Given the description of an element on the screen output the (x, y) to click on. 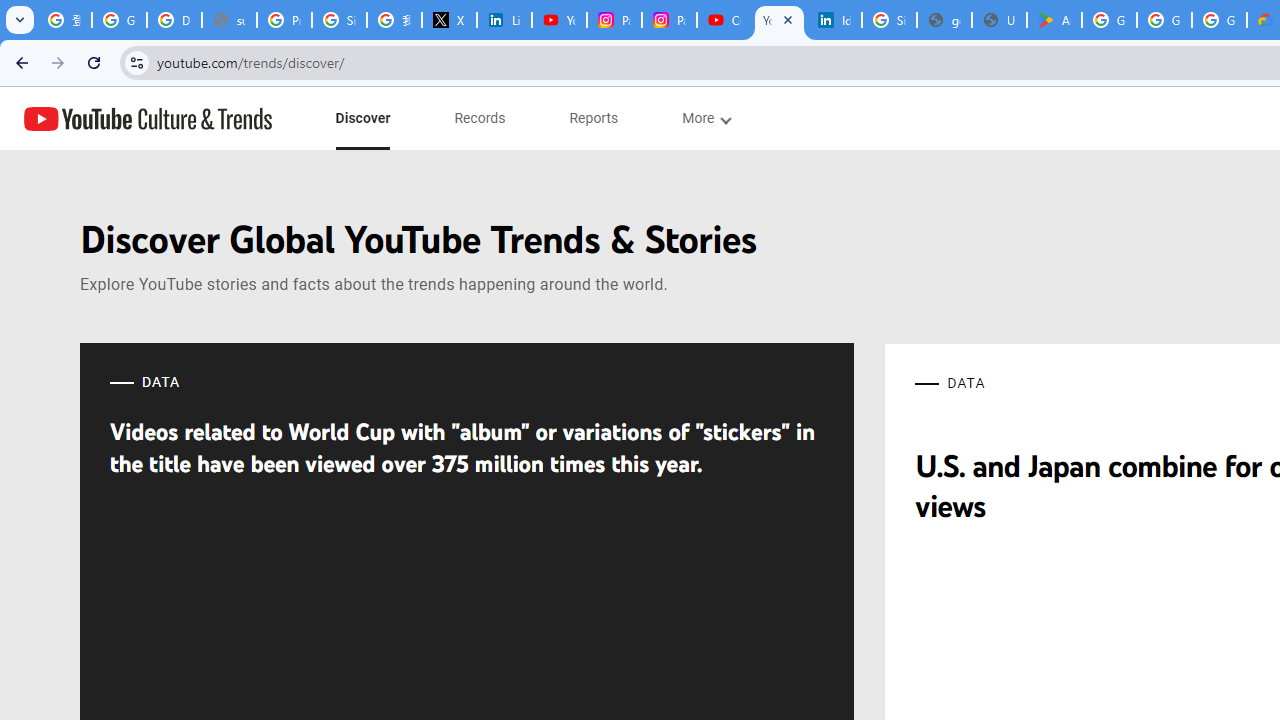
subnav-Reports menupopup (594, 118)
subnav-More menupopup (706, 118)
Android Apps on Google Play (1053, 20)
subnav-Reports menupopup (594, 118)
JUMP TO CONTENT (209, 119)
YouTube Culture & Trends (147, 118)
